Given the description of an element on the screen output the (x, y) to click on. 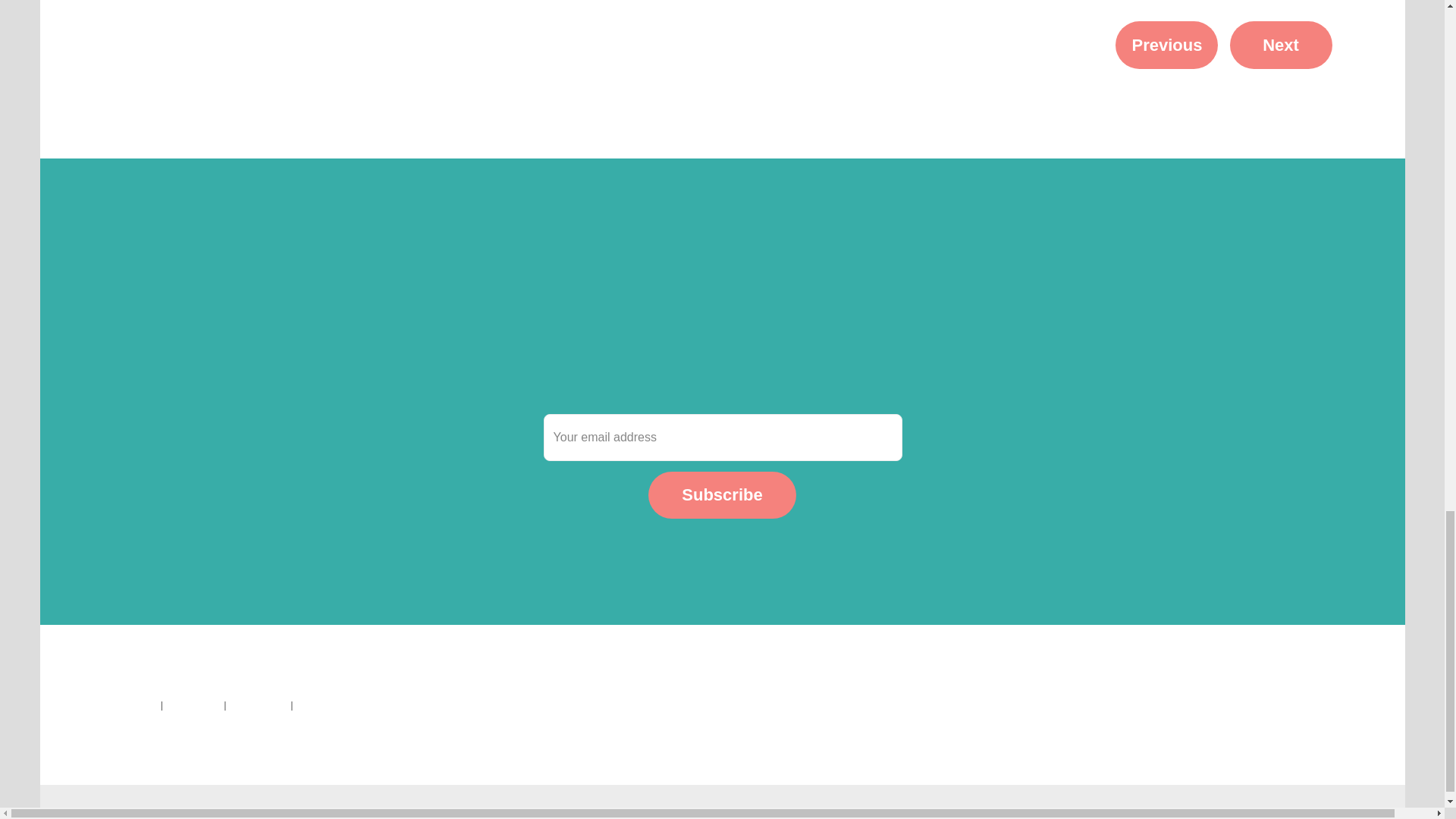
Next (1281, 44)
Subscribe (720, 495)
Previous (1166, 44)
